Given the description of an element on the screen output the (x, y) to click on. 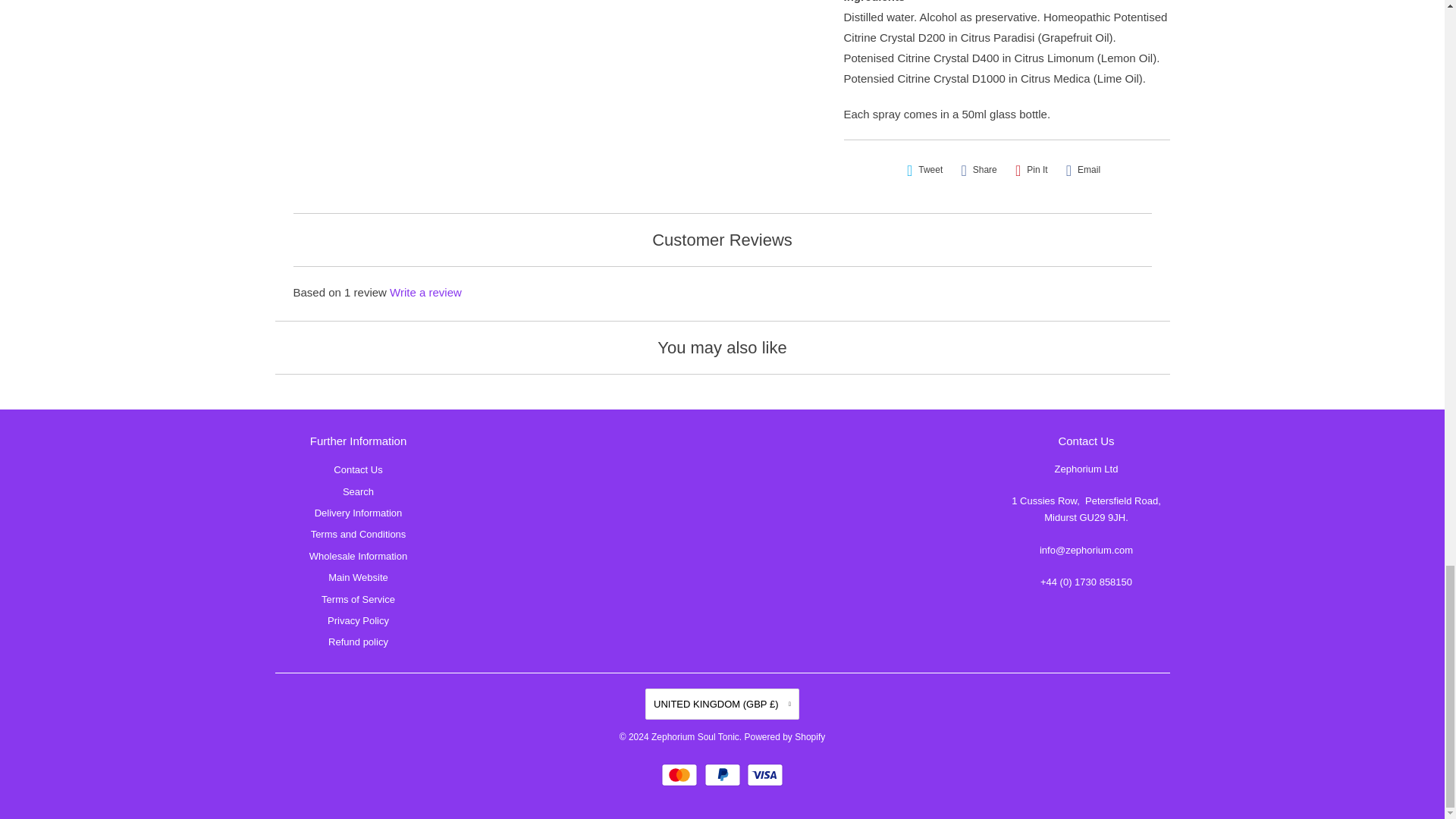
Share this on Twitter (924, 170)
Share this on Facebook (978, 170)
PayPal (723, 774)
Share this on Pinterest (1031, 170)
Mastercard (681, 774)
Email this to a friend (1083, 170)
Visa (764, 774)
